Given the description of an element on the screen output the (x, y) to click on. 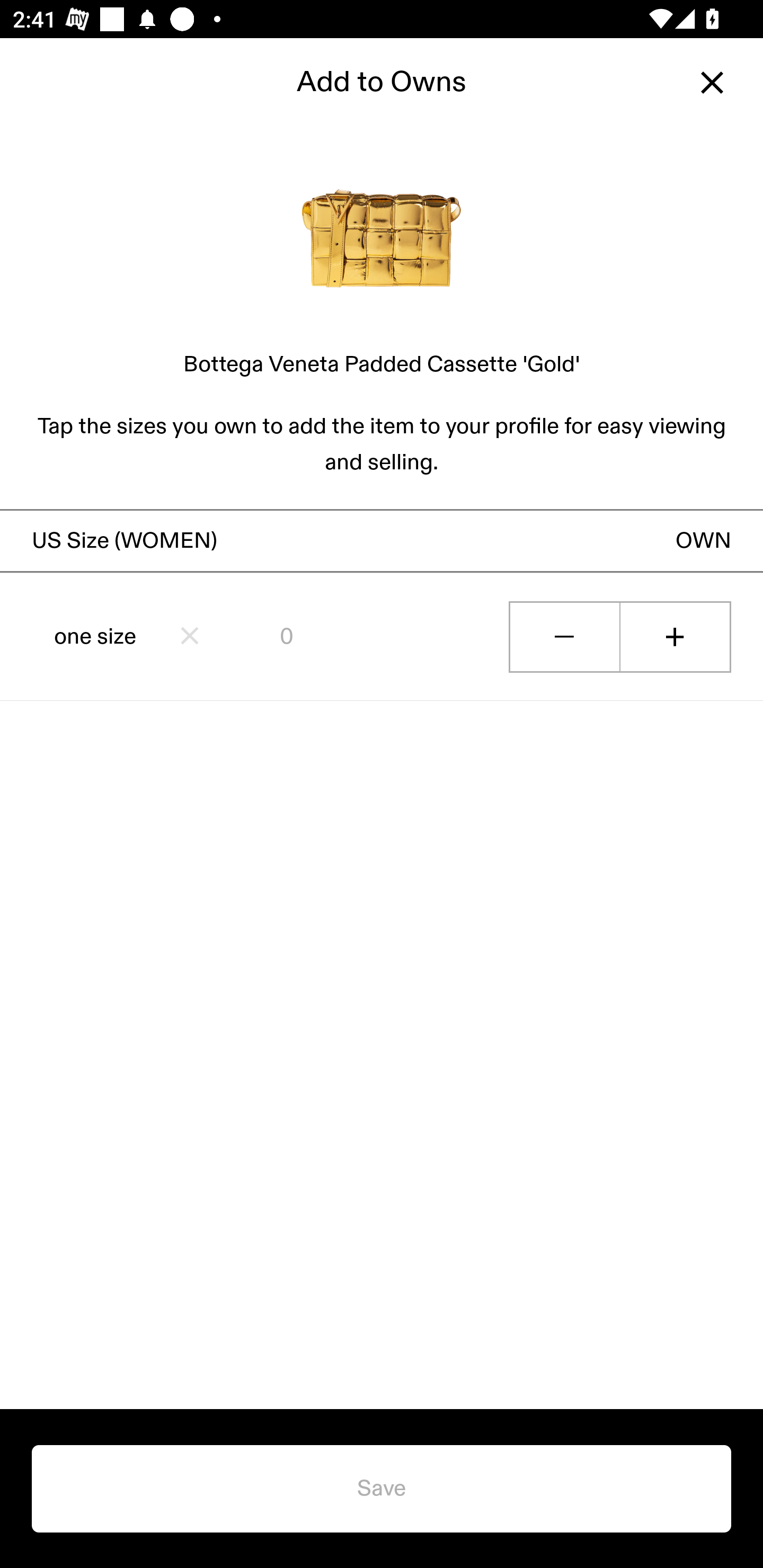
Save (381, 1488)
